Given the description of an element on the screen output the (x, y) to click on. 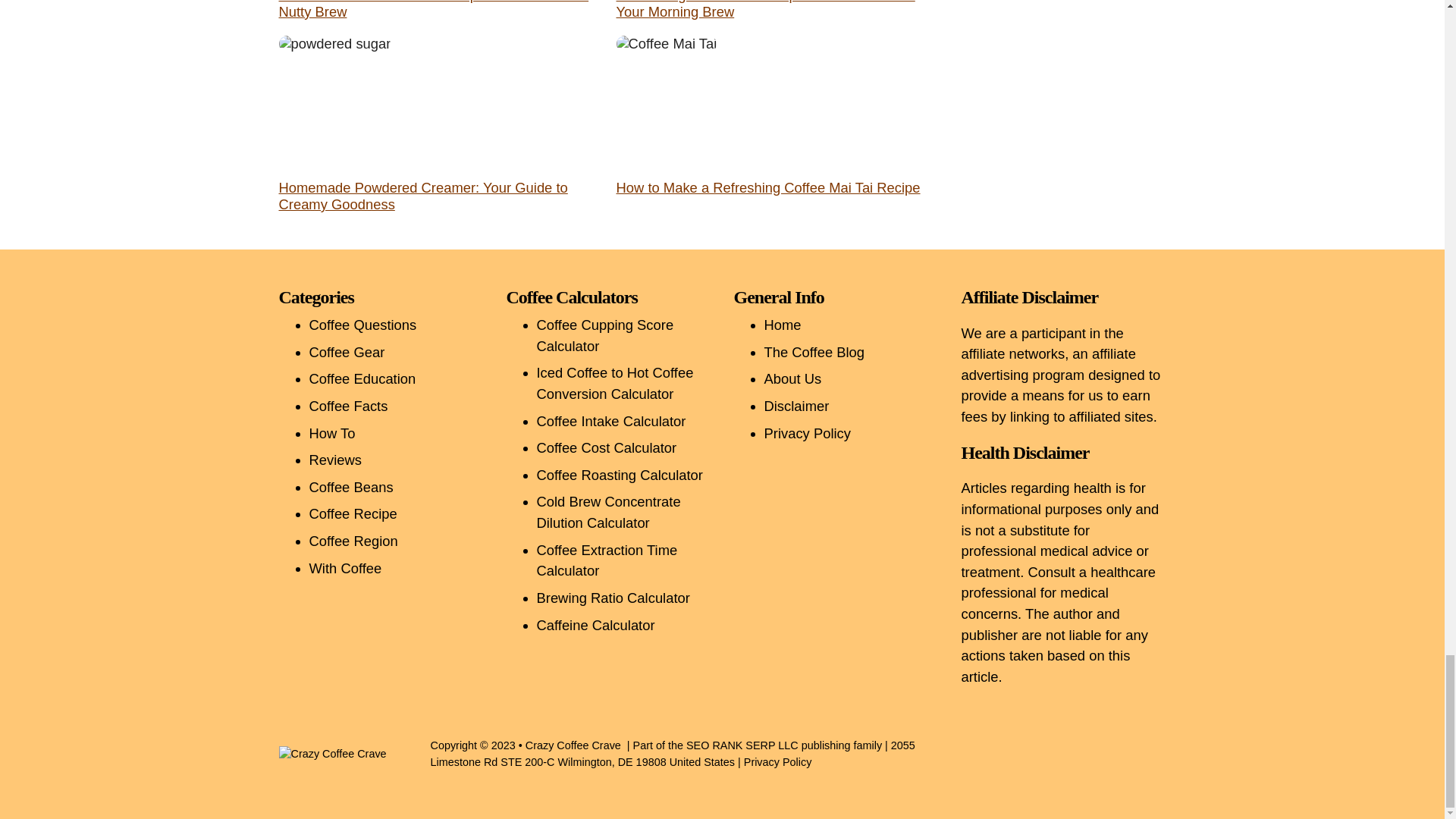
How to Make a Refreshing Coffee Mai Tai Recipe (767, 187)
The Best Hazelnut Coffee Recipe: A Delicious and Nutty Brew (434, 9)
Homemade Powdered Creamer: Your Guide to Creamy Goodness (423, 195)
